Given the description of an element on the screen output the (x, y) to click on. 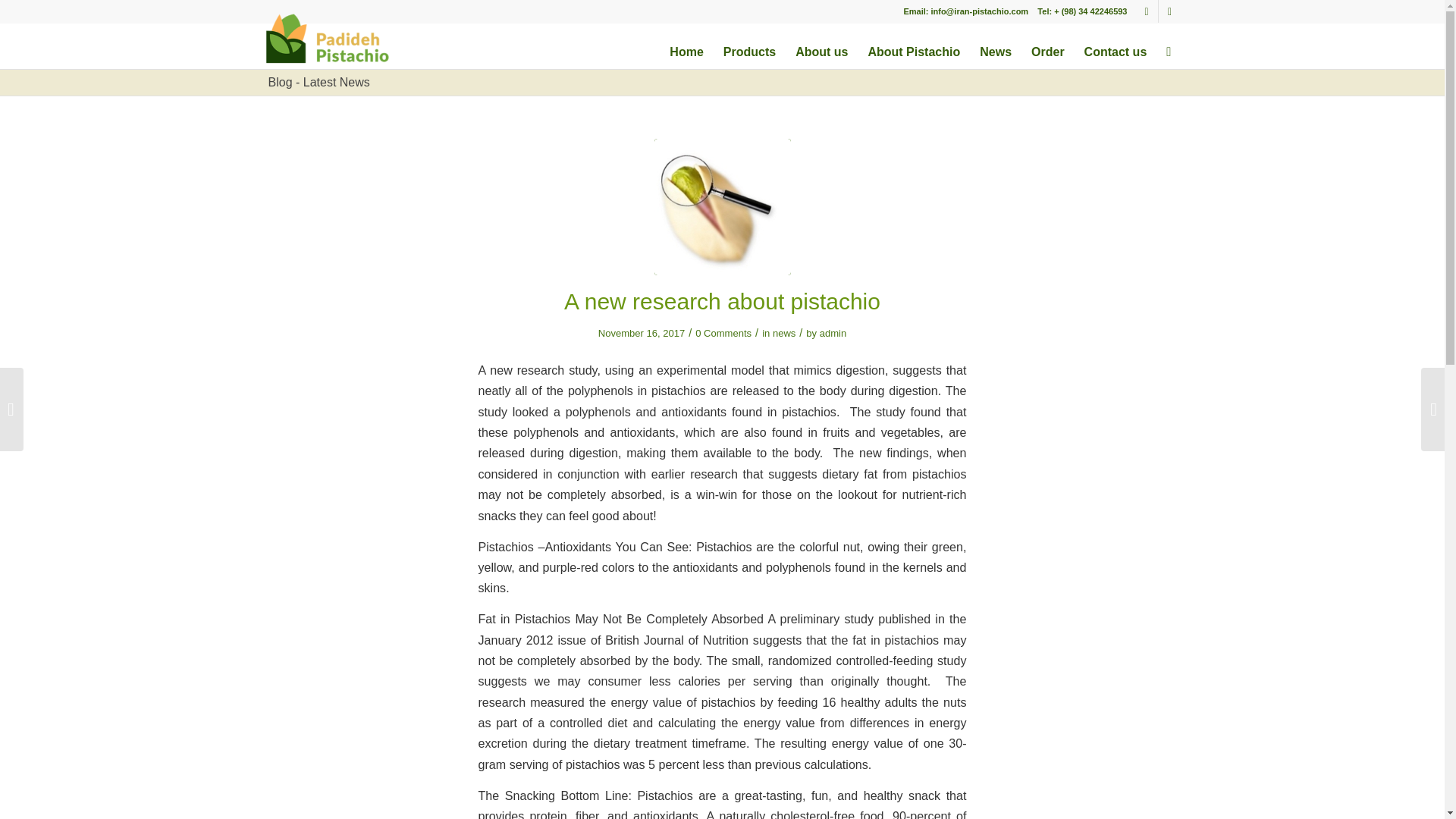
Instagram (1169, 11)
Blog - Latest News (318, 82)
A new research about pistachio (721, 206)
Home (686, 45)
Permanent Link: Blog - Latest News (318, 82)
News (995, 45)
Order (1048, 45)
About Pistachio (913, 45)
admin (833, 333)
About us (821, 45)
